Given the description of an element on the screen output the (x, y) to click on. 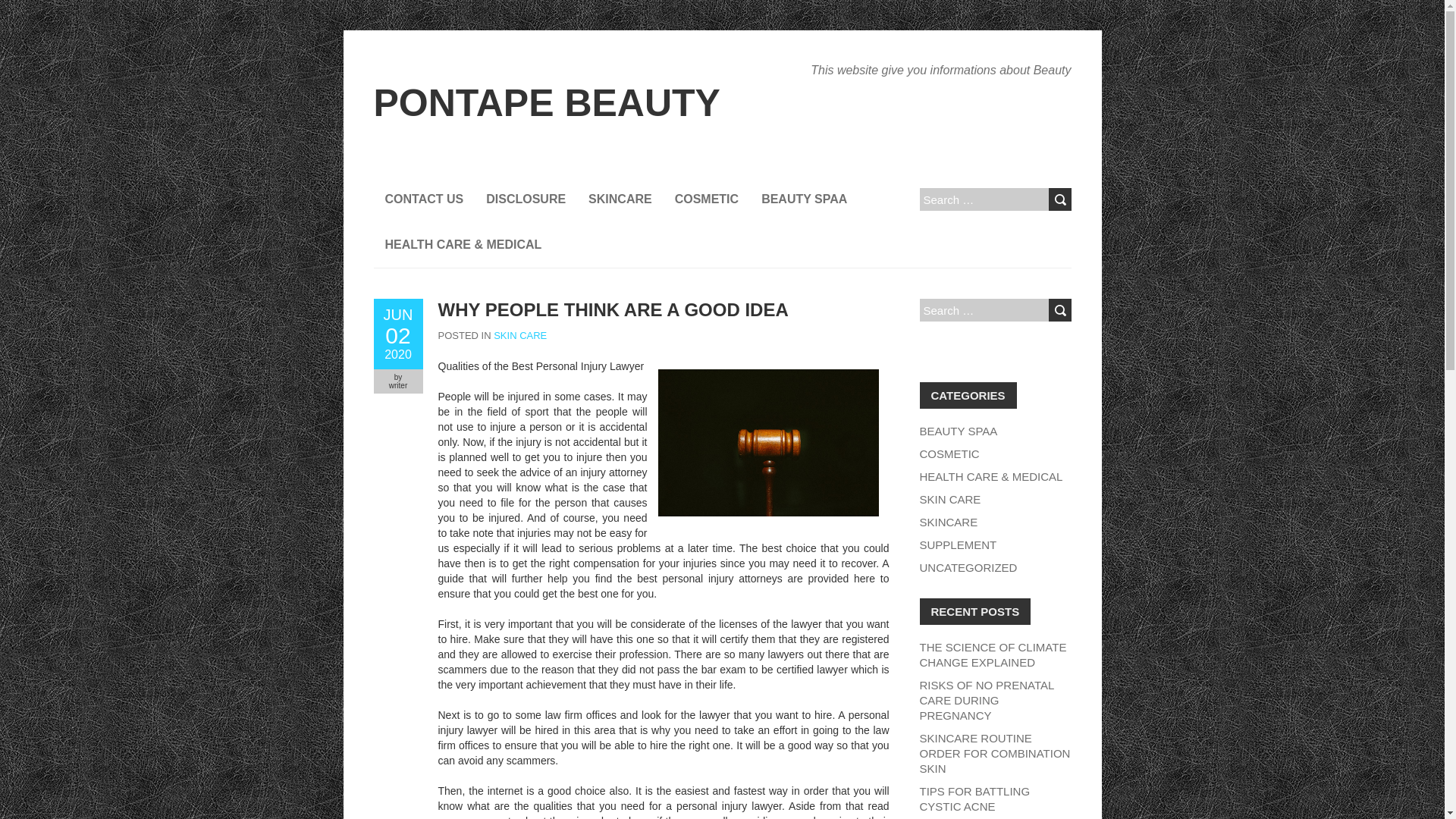
BEAUTY SPAA (804, 198)
THE SCIENCE OF CLIMATE CHANGE EXPLAINED (991, 654)
CONTACT US (423, 198)
PONTAPE BEAUTY (545, 102)
Search (1059, 309)
RISKS OF NO PRENATAL CARE DURING PREGNANCY (985, 699)
SKINCARE (947, 521)
WHY PEOPLE THINK ARE A GOOD IDEA (613, 309)
SKIN CARE (948, 499)
SUPPLEMENT (956, 544)
BEAUTY SPAA (957, 431)
SKIN CARE (520, 335)
SKINCARE ROUTINE ORDER FOR COMBINATION SKIN (994, 753)
Search (1059, 199)
UNCATEGORIZED (967, 567)
